Given the description of an element on the screen output the (x, y) to click on. 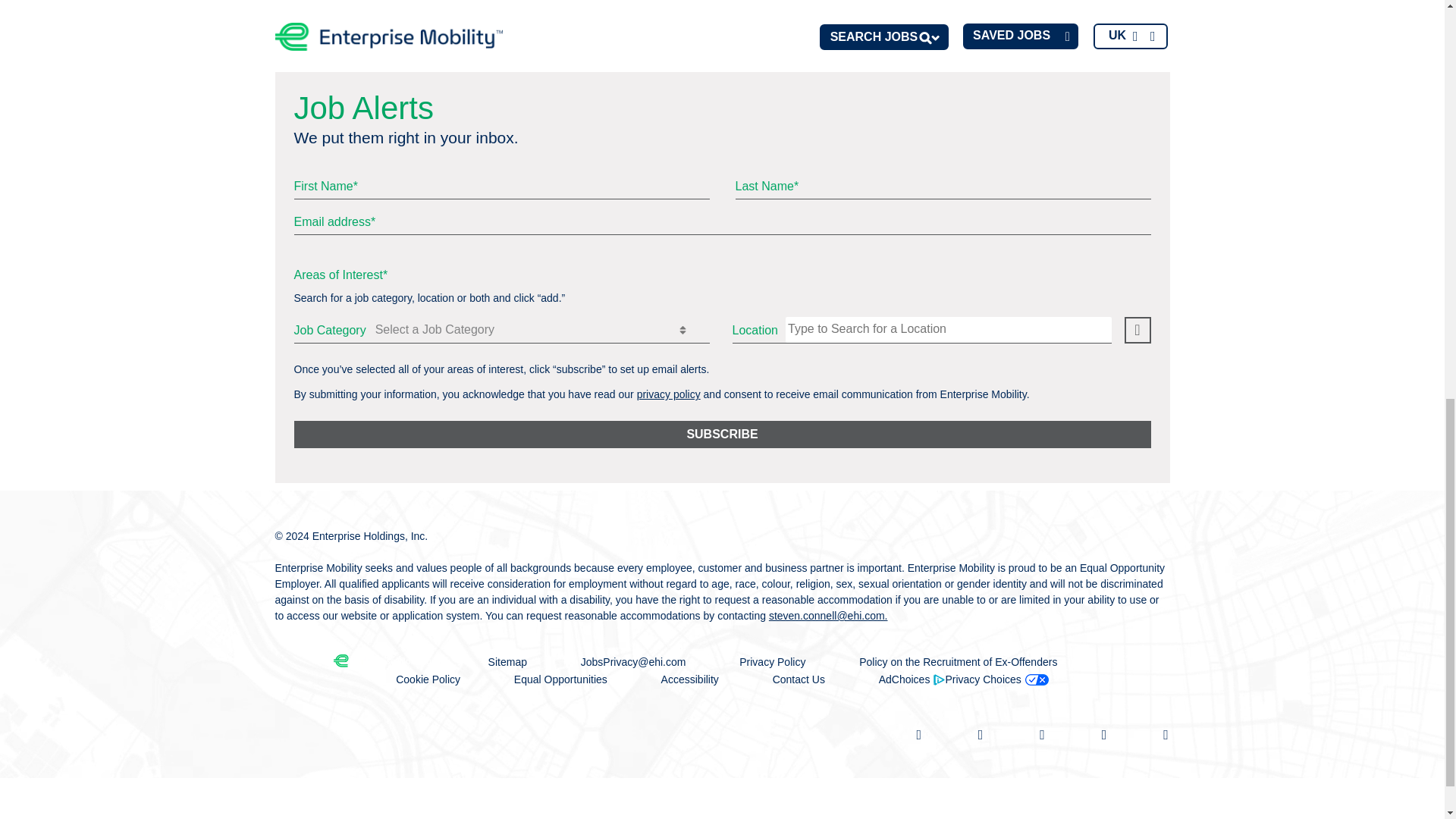
Type to Search for a Location (949, 329)
Subscribe (722, 433)
Select a Job Category (542, 329)
